Given the description of an element on the screen output the (x, y) to click on. 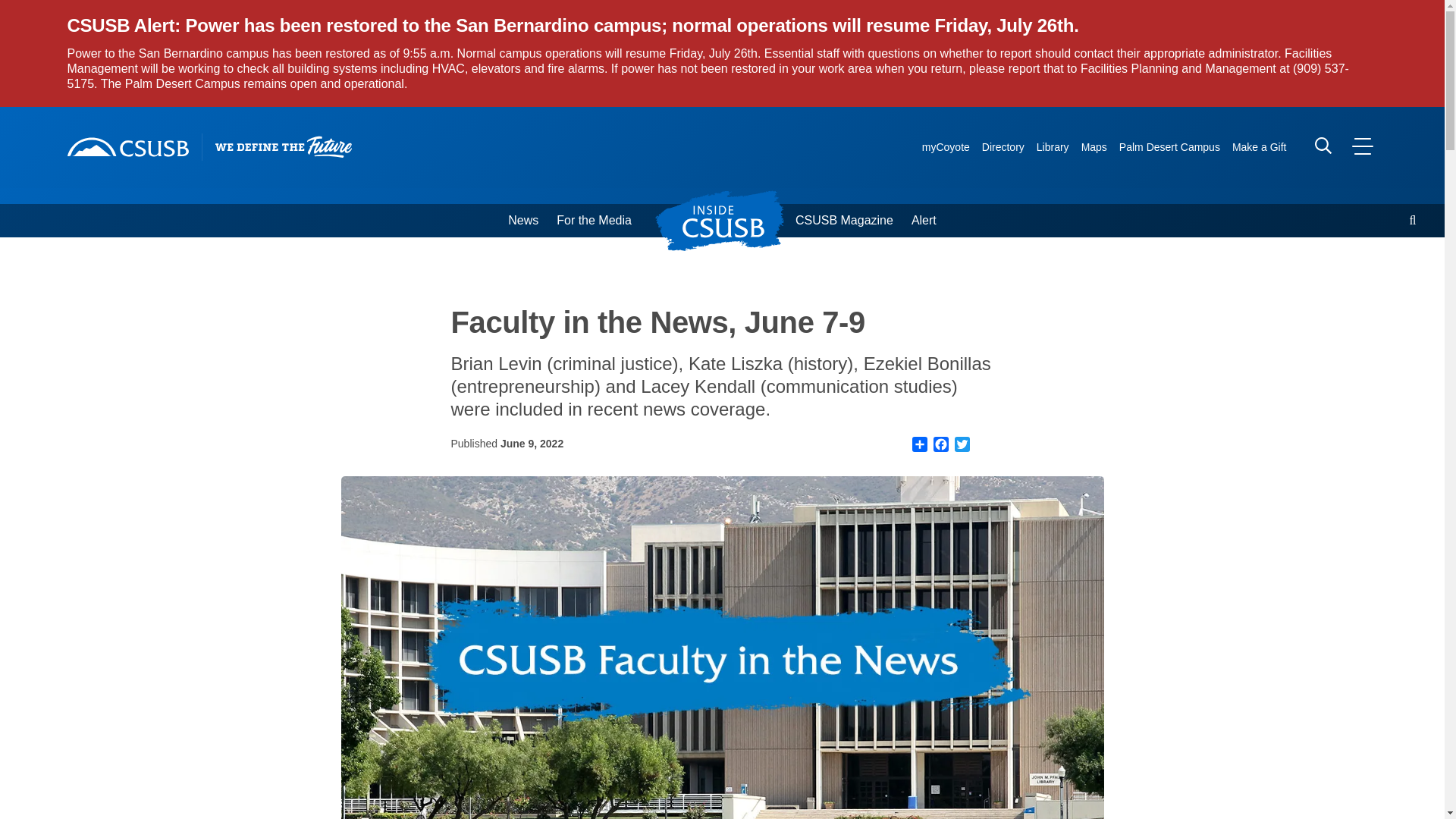
Expand Inside Search (1412, 220)
Search CSUSB (1323, 145)
Home (126, 146)
Inside CSUSB home (727, 220)
